Given the description of an element on the screen output the (x, y) to click on. 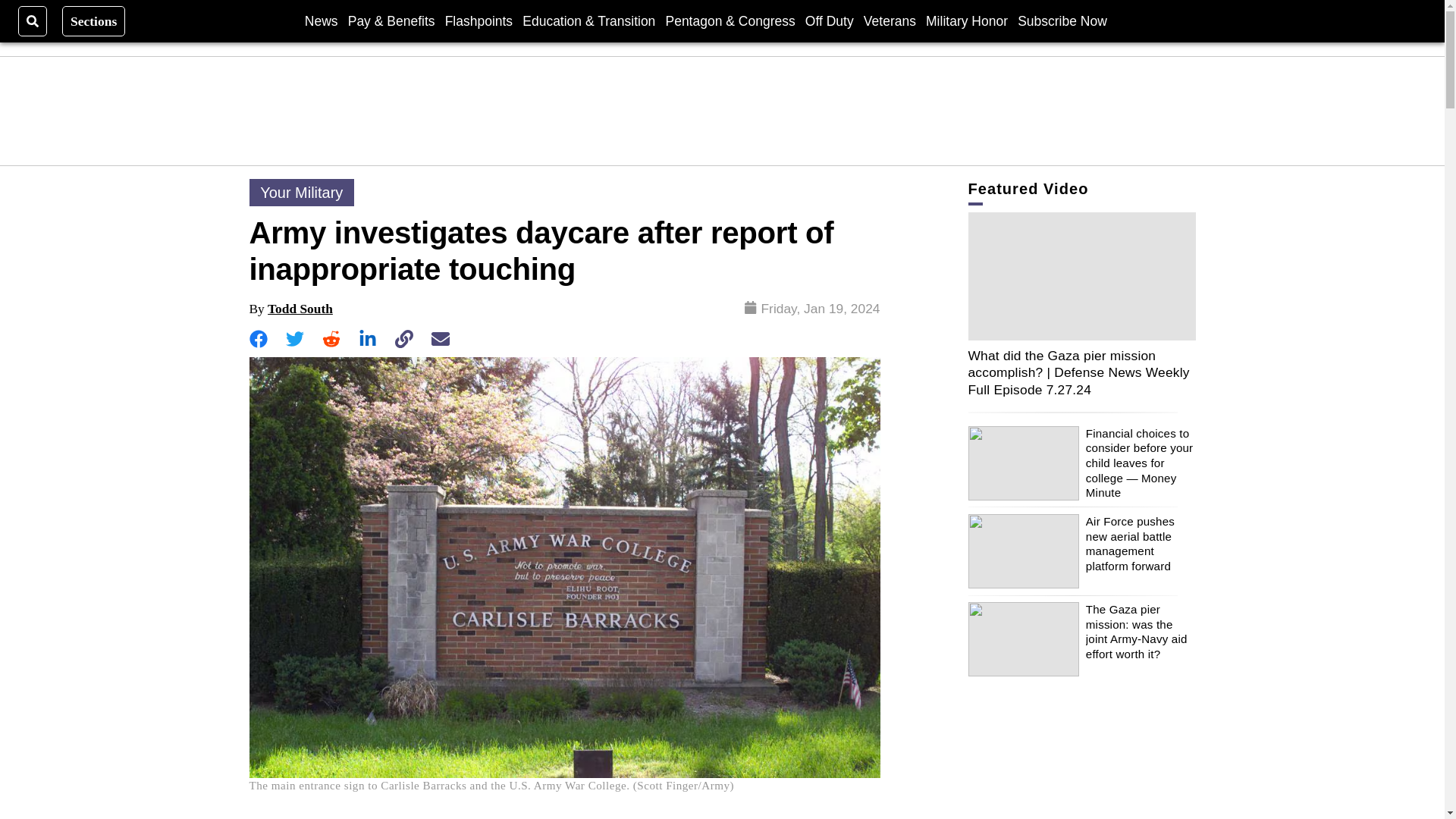
Sections (93, 20)
Flashpoints (479, 20)
Military Honor (966, 20)
News (320, 20)
Veterans (889, 20)
Off Duty (829, 20)
